Given the description of an element on the screen output the (x, y) to click on. 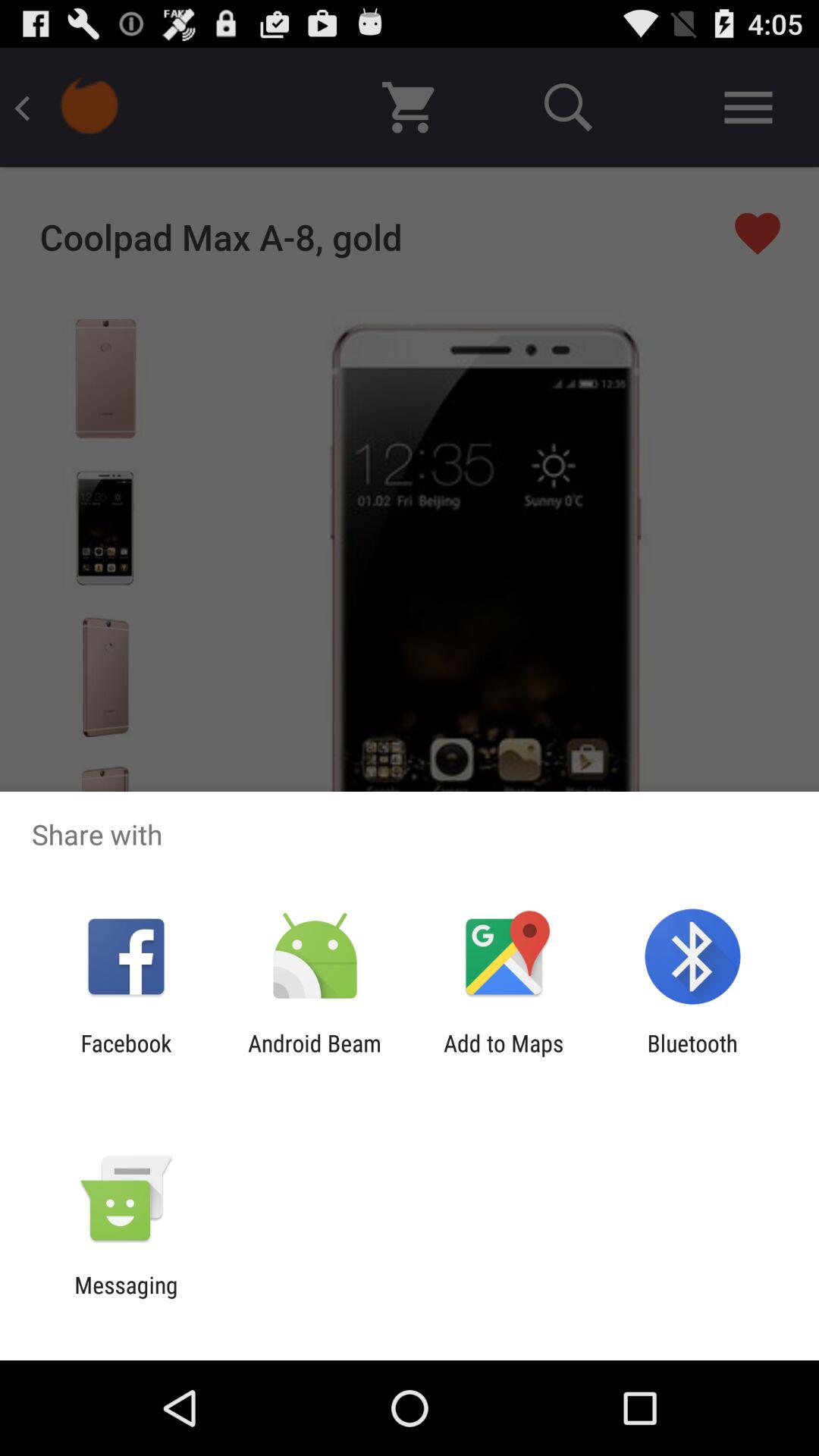
turn on the facebook item (125, 1056)
